Given the description of an element on the screen output the (x, y) to click on. 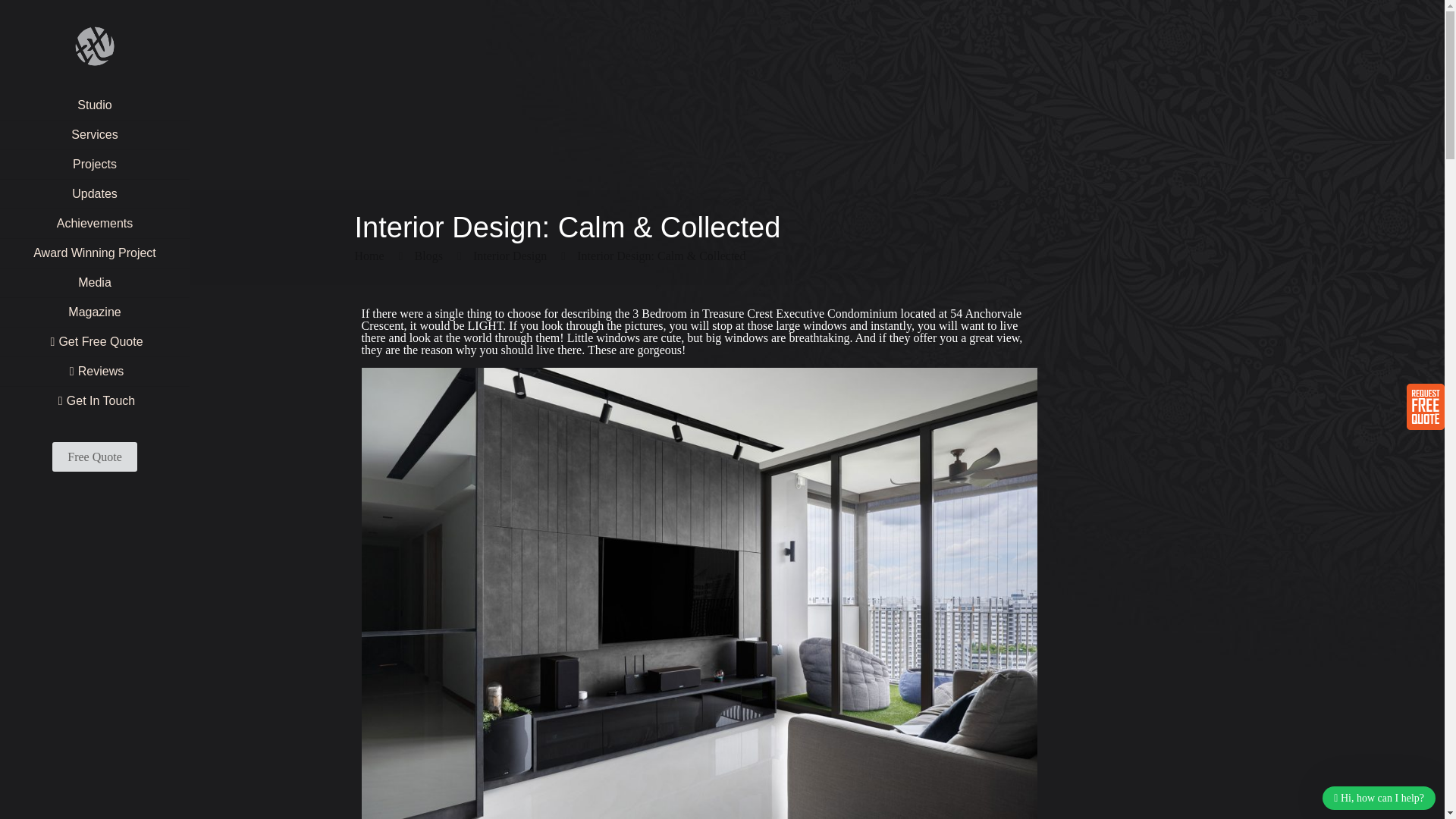
Magazine (94, 312)
Blogs (428, 255)
Get In Touch (94, 400)
Studio (94, 105)
Projects (94, 164)
Reviews (94, 371)
Updates (94, 194)
Services (94, 134)
Free Quote (94, 456)
Award Winning Project (94, 253)
Home (369, 255)
Earth Interior Design (94, 45)
Interior Design (510, 255)
Media (94, 283)
Achievements (94, 224)
